Given the description of an element on the screen output the (x, y) to click on. 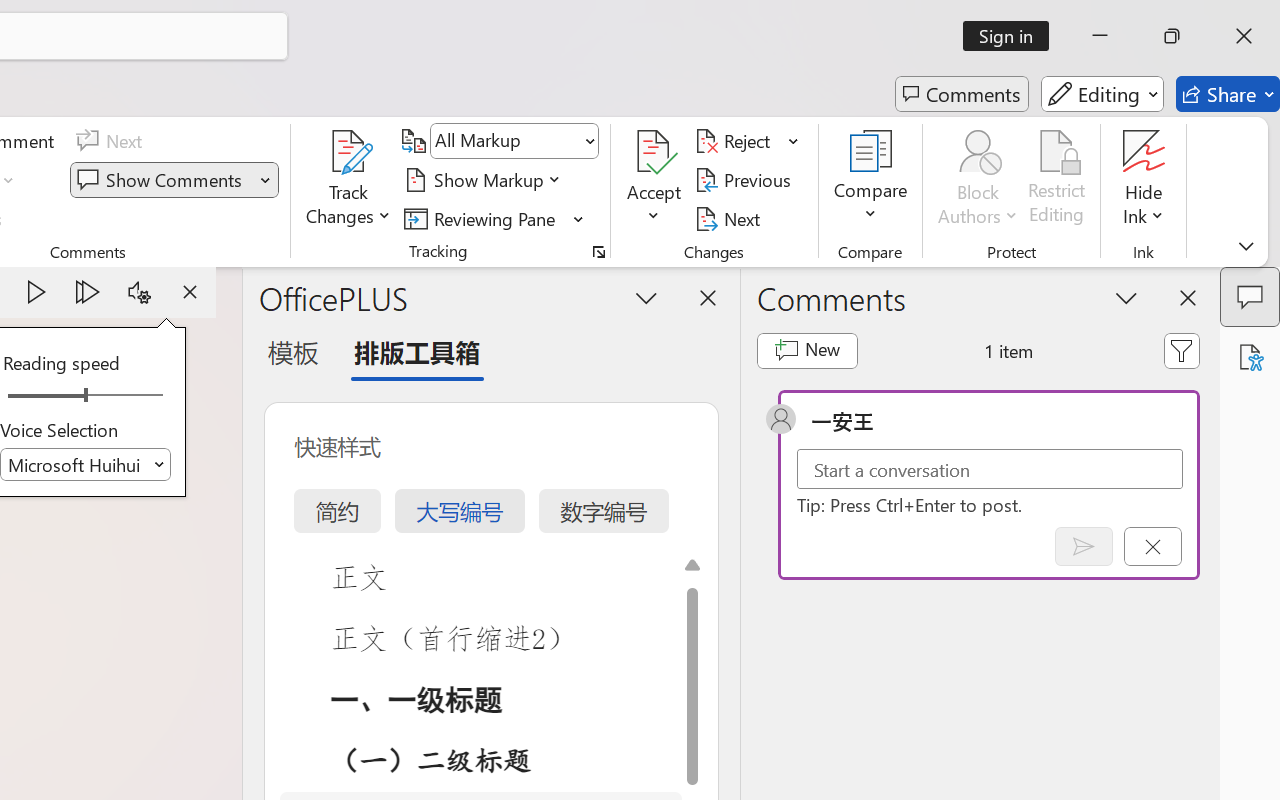
Cancel (1152, 546)
Block Authors (977, 151)
Filter (1181, 350)
Accept and Move to Next (653, 151)
Reviewing Pane (483, 218)
Block Authors (977, 179)
Show Markup (485, 179)
Start a conversation (990, 468)
Track Changes (349, 179)
Change Tracking Options... (598, 252)
New comment (806, 350)
